Given the description of an element on the screen output the (x, y) to click on. 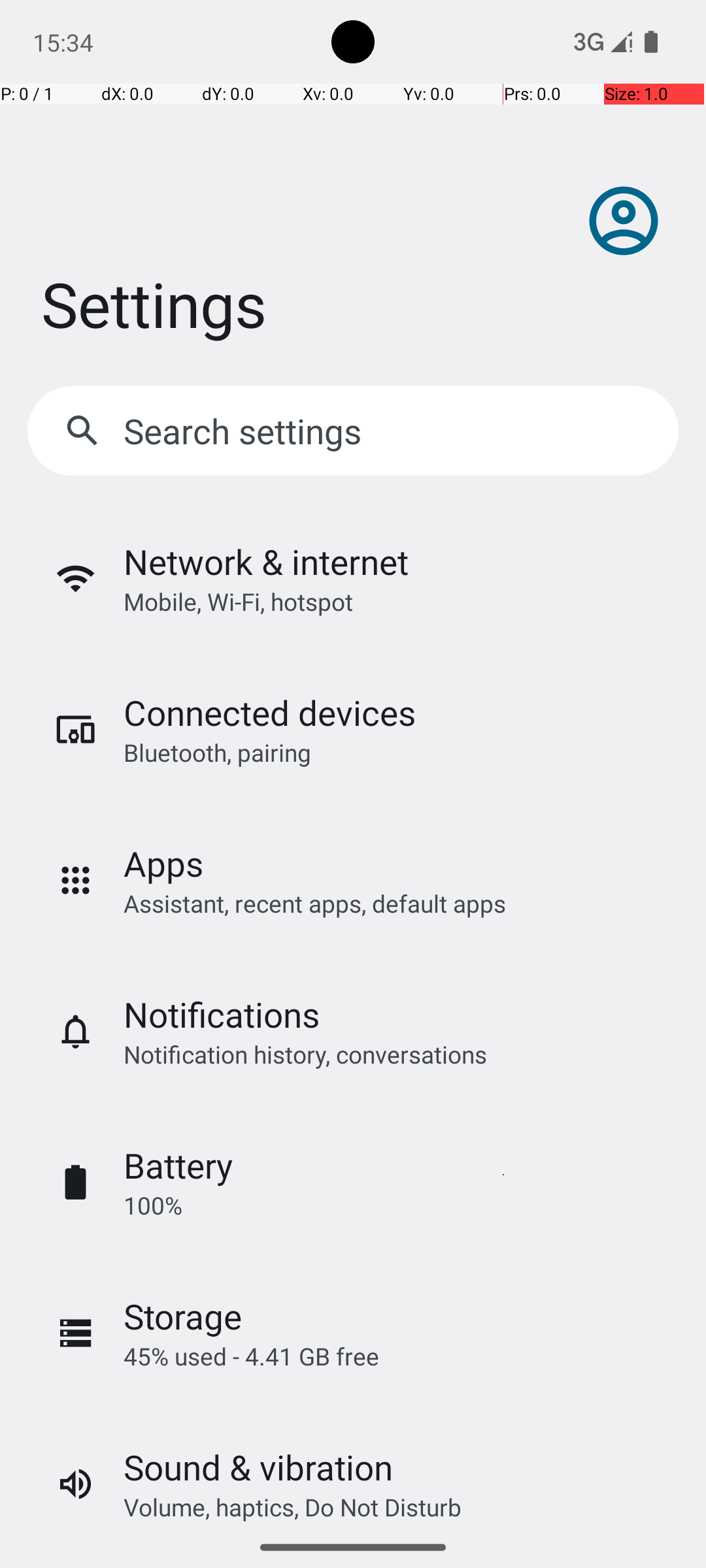
45% used - 4.41 GB free Element type: android.widget.TextView (251, 1355)
